Given the description of an element on the screen output the (x, y) to click on. 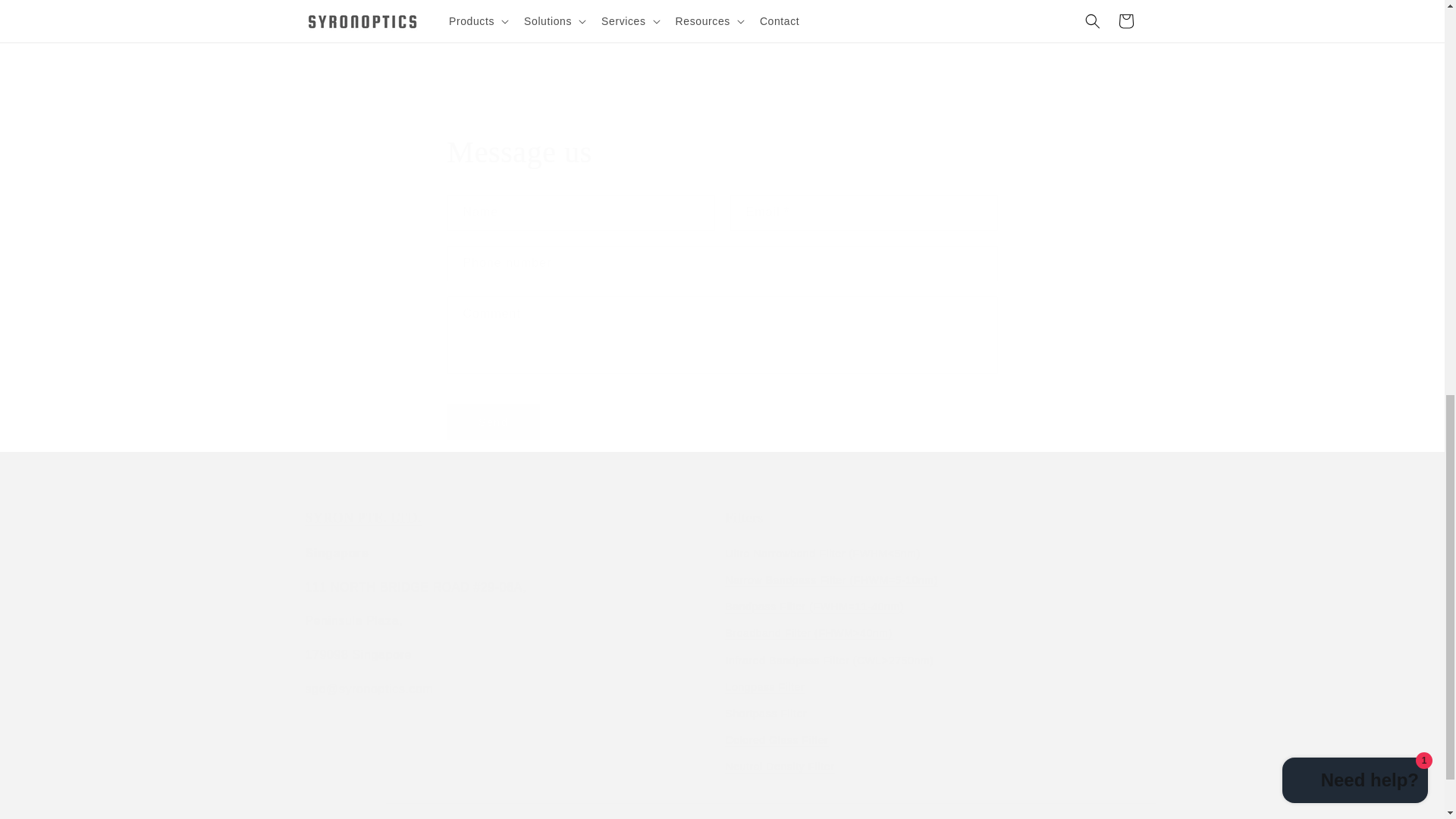
Message us (721, 151)
